Given the description of an element on the screen output the (x, y) to click on. 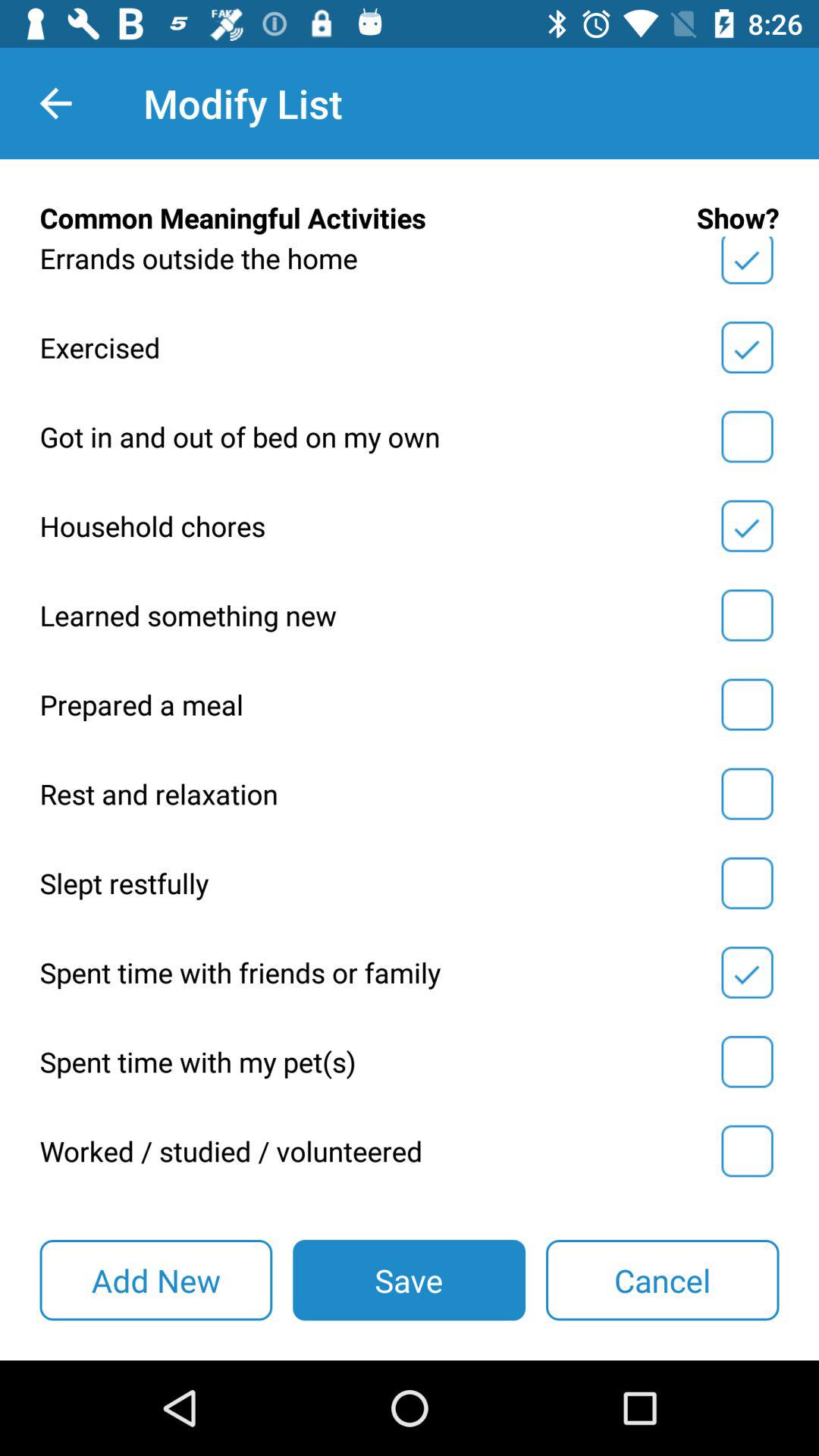
launch icon to the left of cancel item (408, 1279)
